Given the description of an element on the screen output the (x, y) to click on. 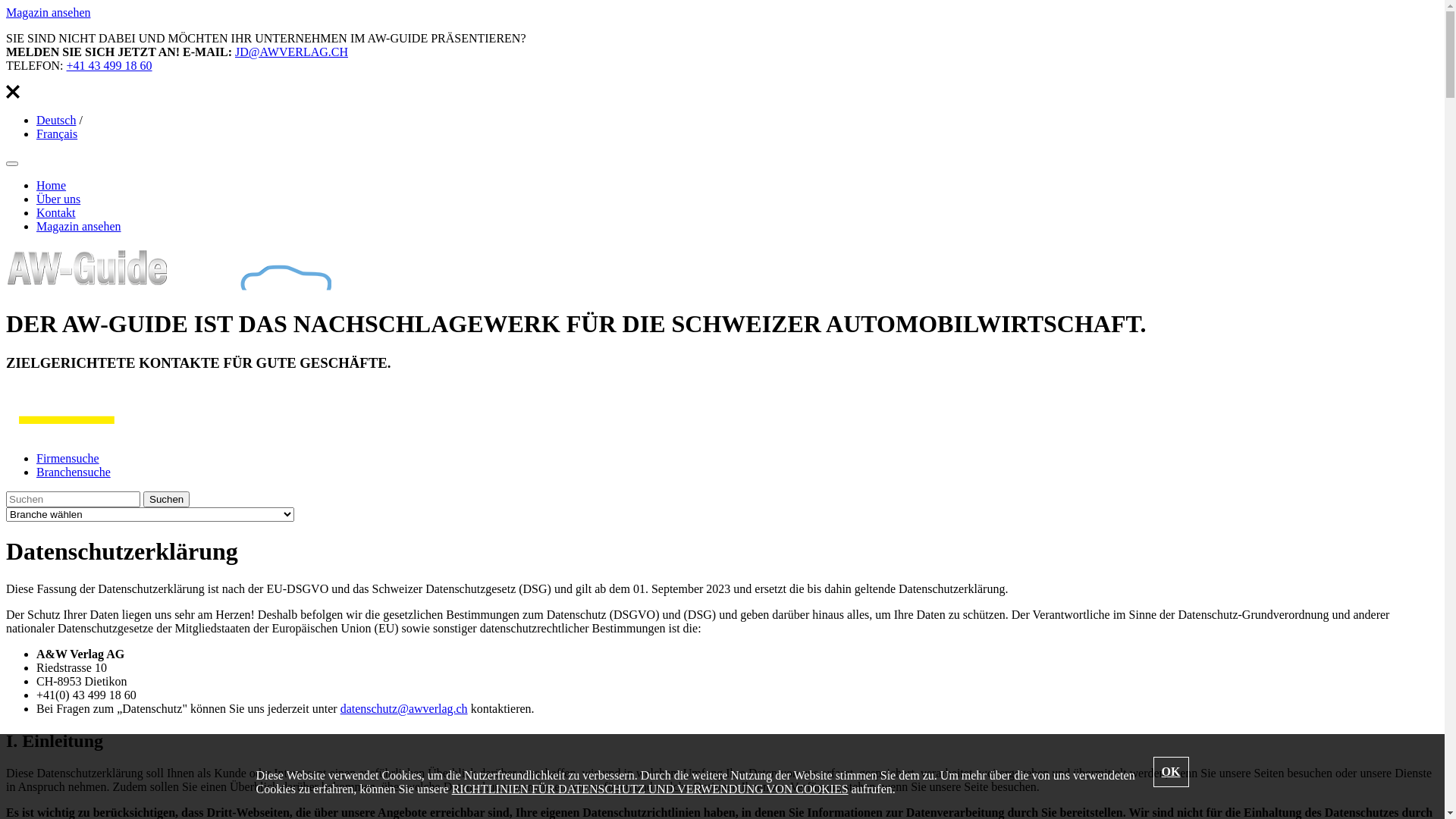
Deutsch Element type: text (55, 119)
Home Element type: text (50, 184)
Magazin ansehen Element type: text (48, 12)
OK Element type: text (1171, 771)
JD@AWVERLAG.CH Element type: text (291, 51)
+41 43 499 18 60 Element type: text (109, 65)
datenschutz@awverlag.ch Element type: text (403, 708)
Firmensuche Element type: text (67, 457)
Branchensuche Element type: text (73, 471)
Suchen Element type: text (166, 499)
Magazin ansehen Element type: text (78, 225)
Kontakt Element type: text (55, 212)
